Given the description of an element on the screen output the (x, y) to click on. 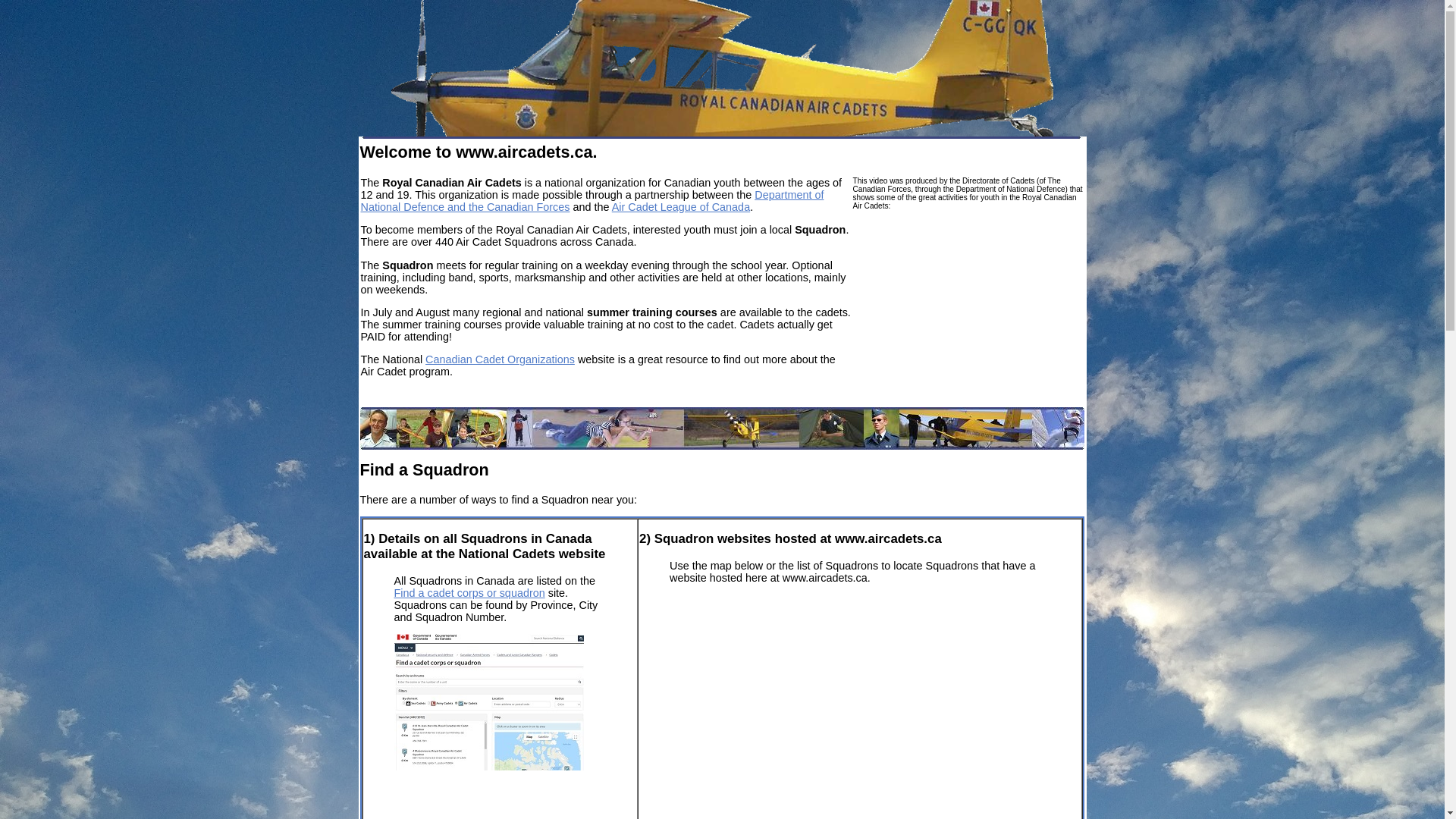
Canadian Cadet Organizations Element type: text (499, 359)
Department of National Defence and the Canadian Forces Element type: text (592, 200)
External link Element type: hover (488, 698)
Find a cadet corps or squadron Element type: text (469, 592)
Air Cadet League of Canada Element type: text (680, 206)
